Given the description of an element on the screen output the (x, y) to click on. 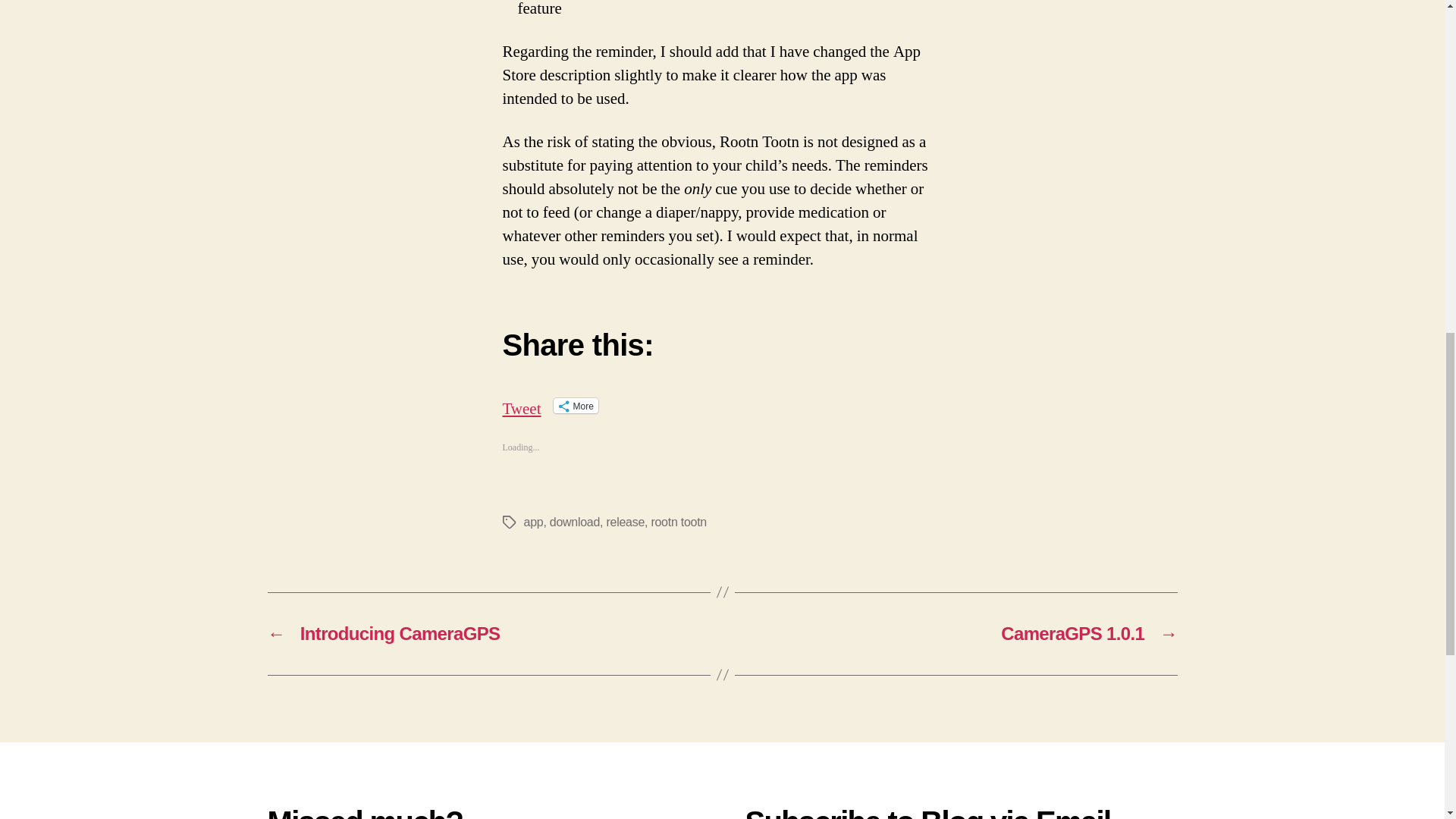
More (575, 405)
app (532, 521)
release (625, 521)
rootn tootn (678, 521)
download (574, 521)
Tweet (521, 404)
